Given the description of an element on the screen output the (x, y) to click on. 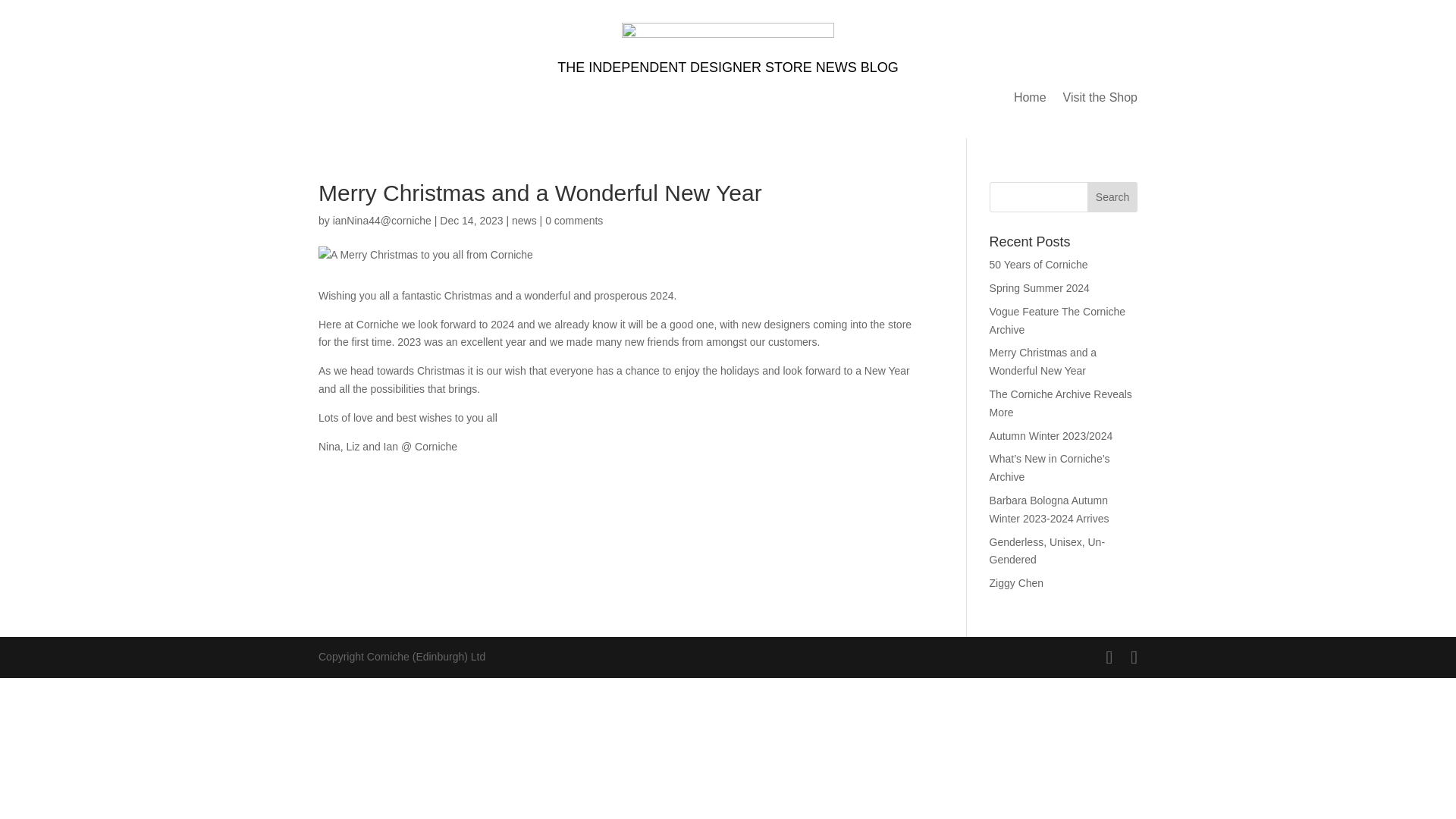
Home (1029, 100)
Ziggy Chen (1016, 582)
The Corniche Archive Reveals More (1061, 403)
Barbara Bologna Autumn Winter 2023-2024 Arrives (1049, 509)
Visit the Shop (1099, 100)
Genderless, Unisex, Un-Gendered (1047, 551)
corniche-logo1 (727, 39)
Spring Summer 2024 (1039, 287)
Search (1112, 196)
Search (1112, 196)
